Given the description of an element on the screen output the (x, y) to click on. 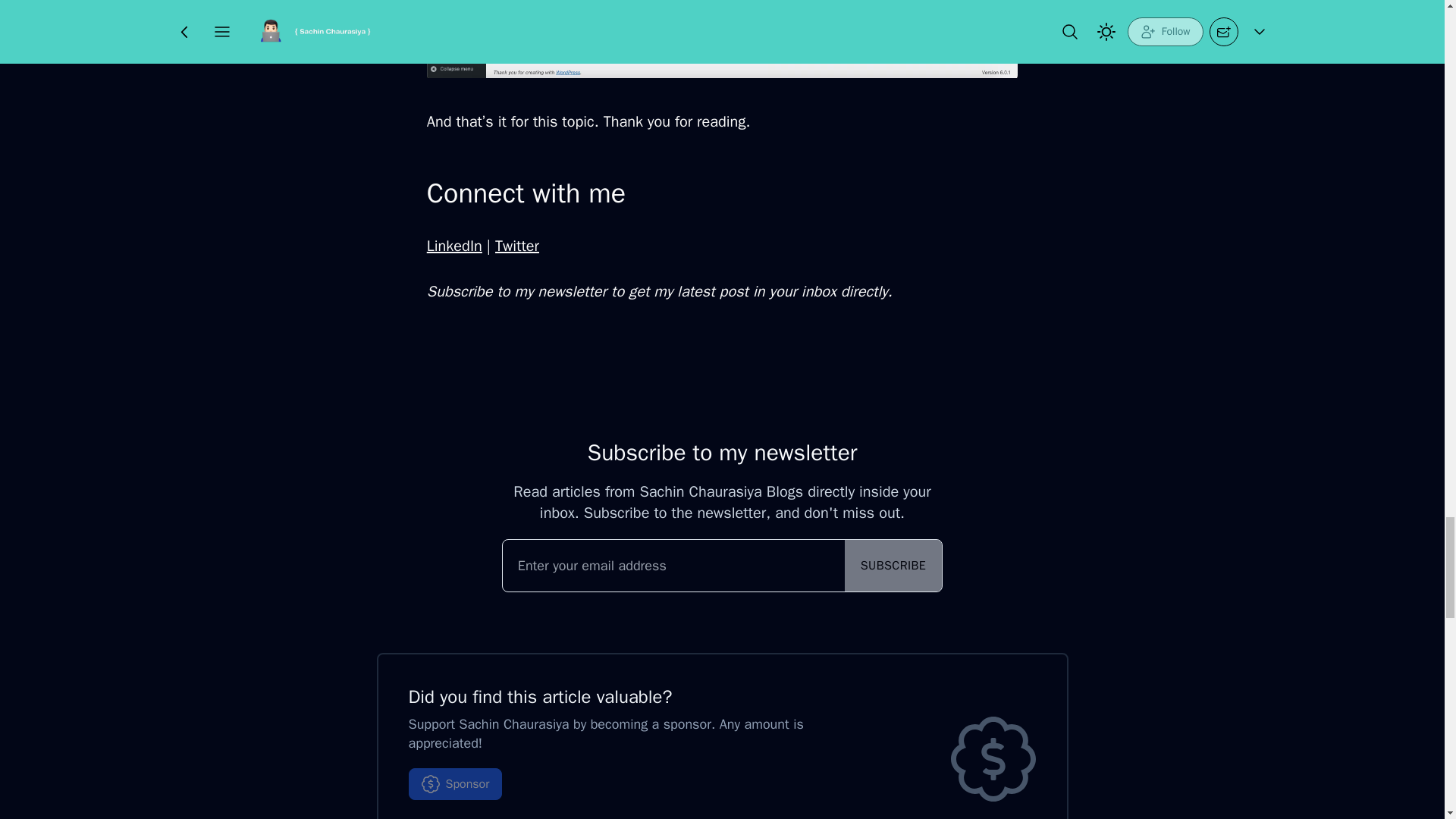
Twitter (516, 245)
LinkedIn (453, 245)
